Given the description of an element on the screen output the (x, y) to click on. 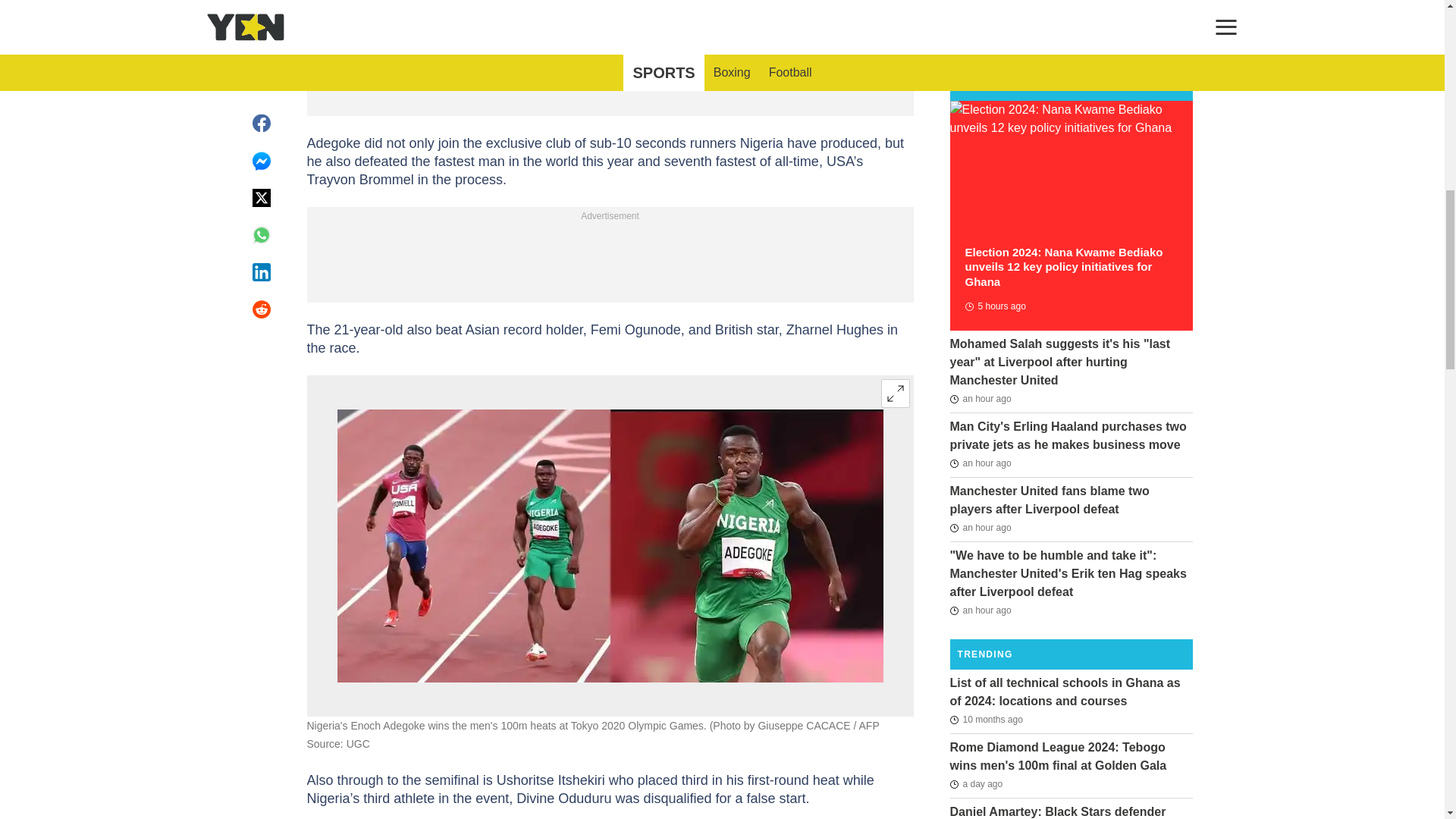
2024-09-01T19:01:47Z (979, 463)
2024-09-01T19:01:17Z (979, 527)
2024-08-31T08:03:41Z (976, 783)
2023-10-27T00:09:44Z (985, 719)
2024-09-01T19:00:58Z (979, 610)
2024-09-01T15:03:35Z (994, 306)
2024-09-01T19:40:50Z (979, 398)
Expand image (895, 393)
